Given the description of an element on the screen output the (x, y) to click on. 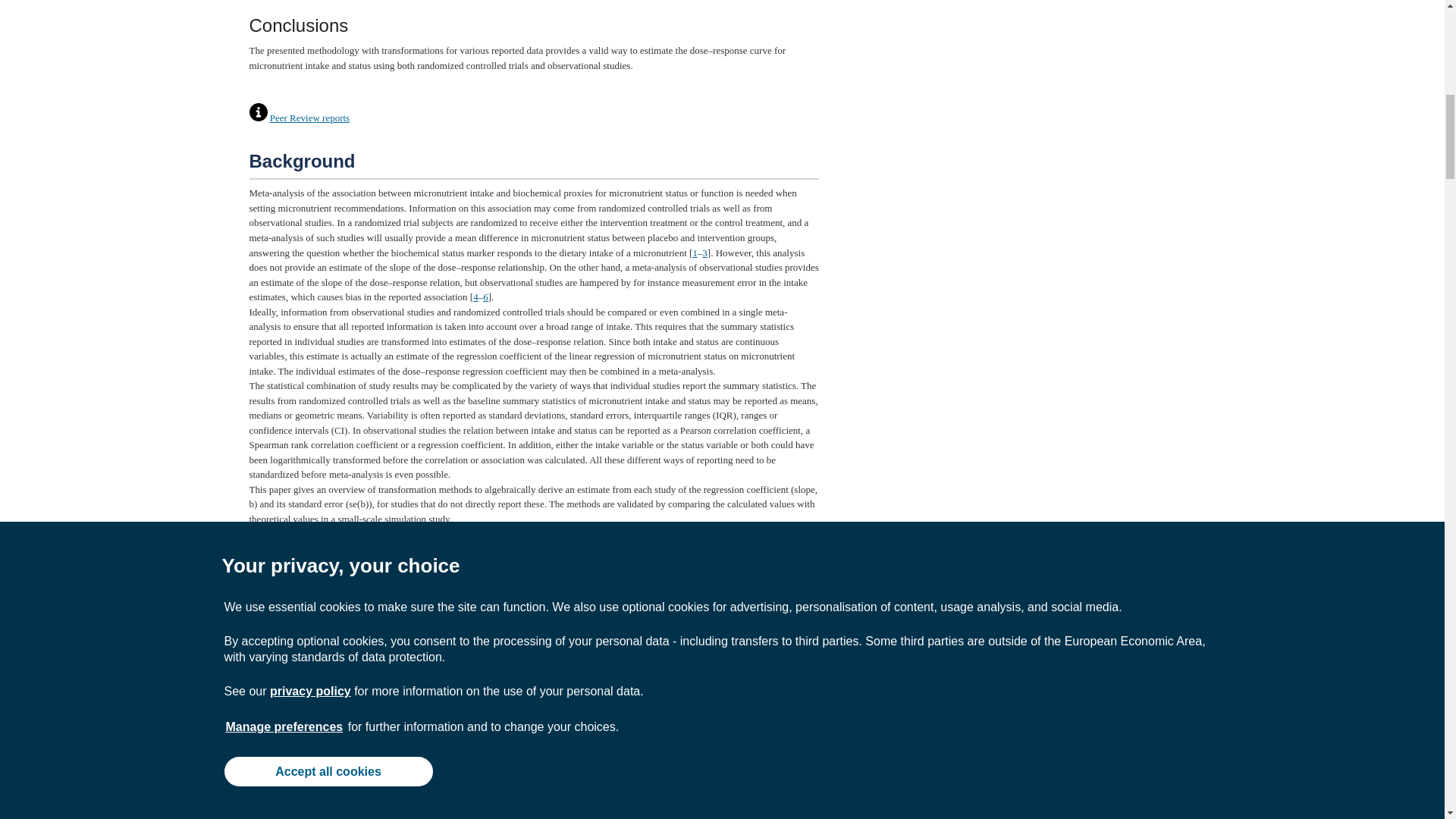
Peer Review reports (309, 117)
